Given the description of an element on the screen output the (x, y) to click on. 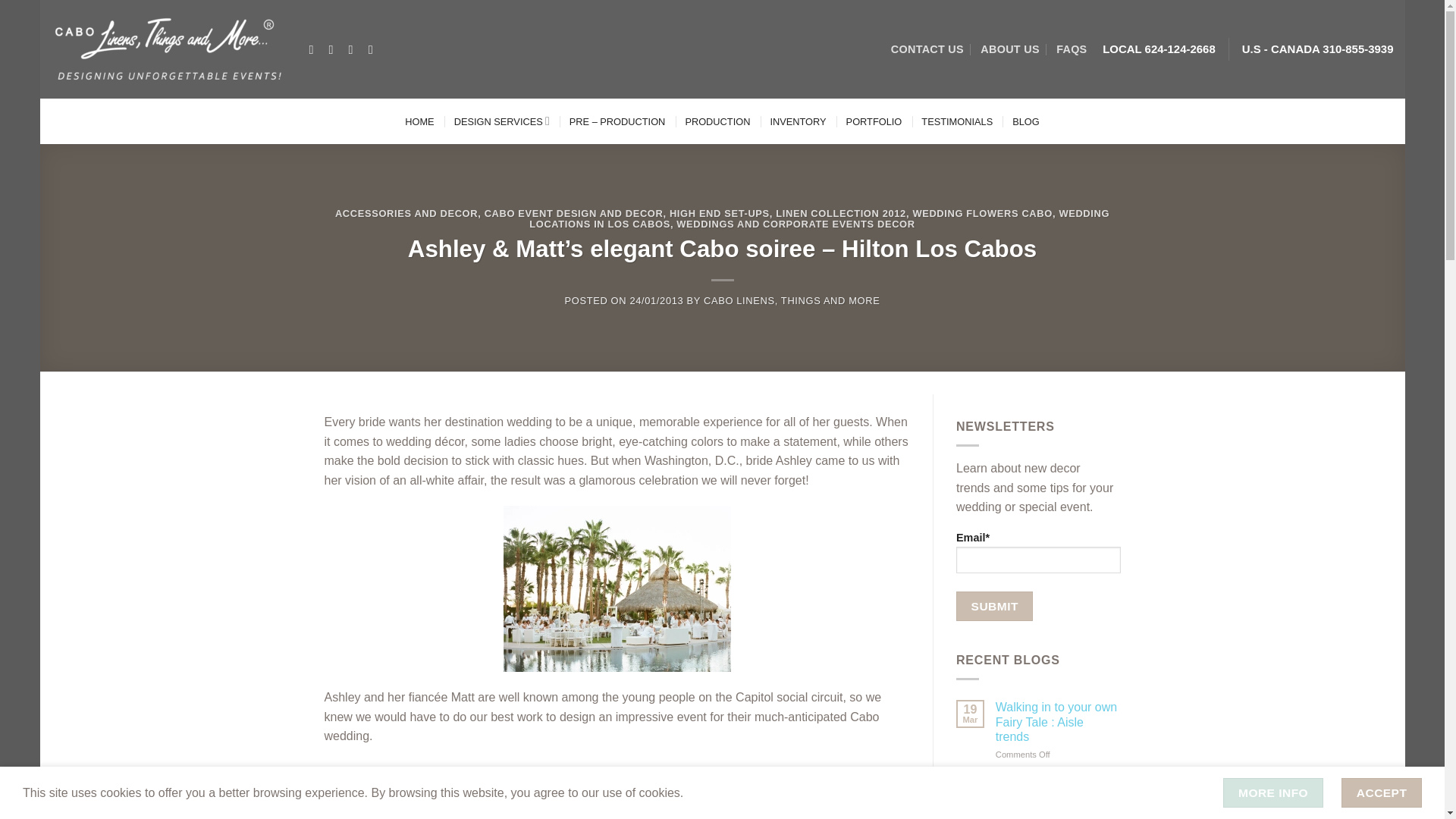
HIGH END SET-UPS (719, 213)
LINEN COLLECTION 2012 (840, 213)
CONTACT US (927, 49)
Walking in to your own Fairy Tale : Aisle trends (1058, 721)
WEDDINGS AND CORPORATE EVENTS DECOR (795, 224)
ABOUT US (1009, 49)
ACCESSORIES AND DECOR (405, 213)
PORTFOLIO (873, 120)
Submit (994, 605)
TESTIMONIALS (956, 120)
WEDDING FLOWERS CABO (982, 213)
FAQS (1071, 49)
DESIGN SERVICES (502, 120)
CABO EVENT DESIGN AND DECOR (573, 213)
